Given the description of an element on the screen output the (x, y) to click on. 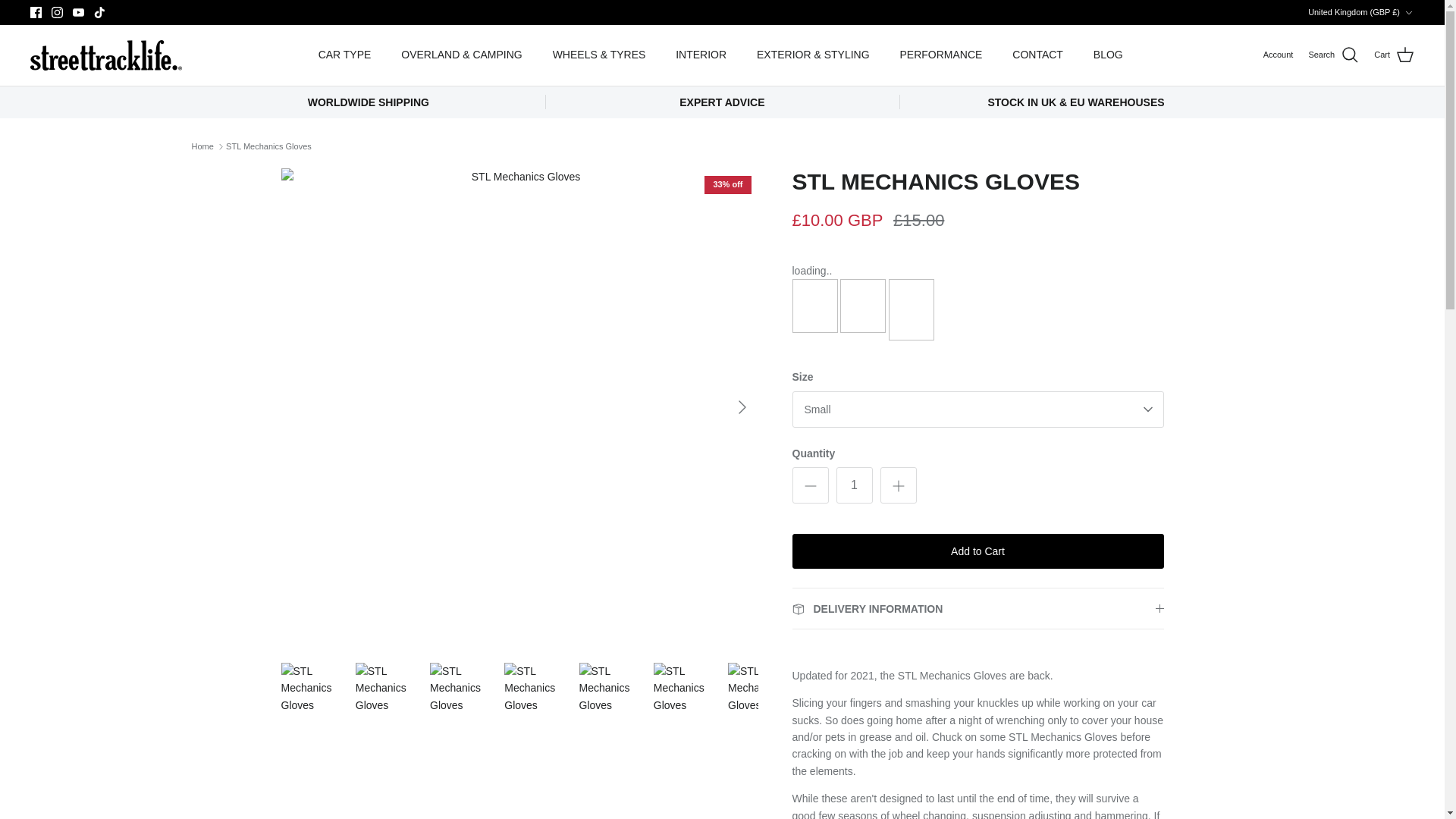
Facebook (36, 12)
Down (1408, 12)
Instagram (56, 12)
Minus (809, 485)
Instagram (56, 12)
Youtube (78, 12)
Right (741, 406)
Facebook (36, 12)
1 (853, 484)
Youtube (78, 12)
Plus (897, 485)
STREET TRACK LIFE (106, 55)
